Given the description of an element on the screen output the (x, y) to click on. 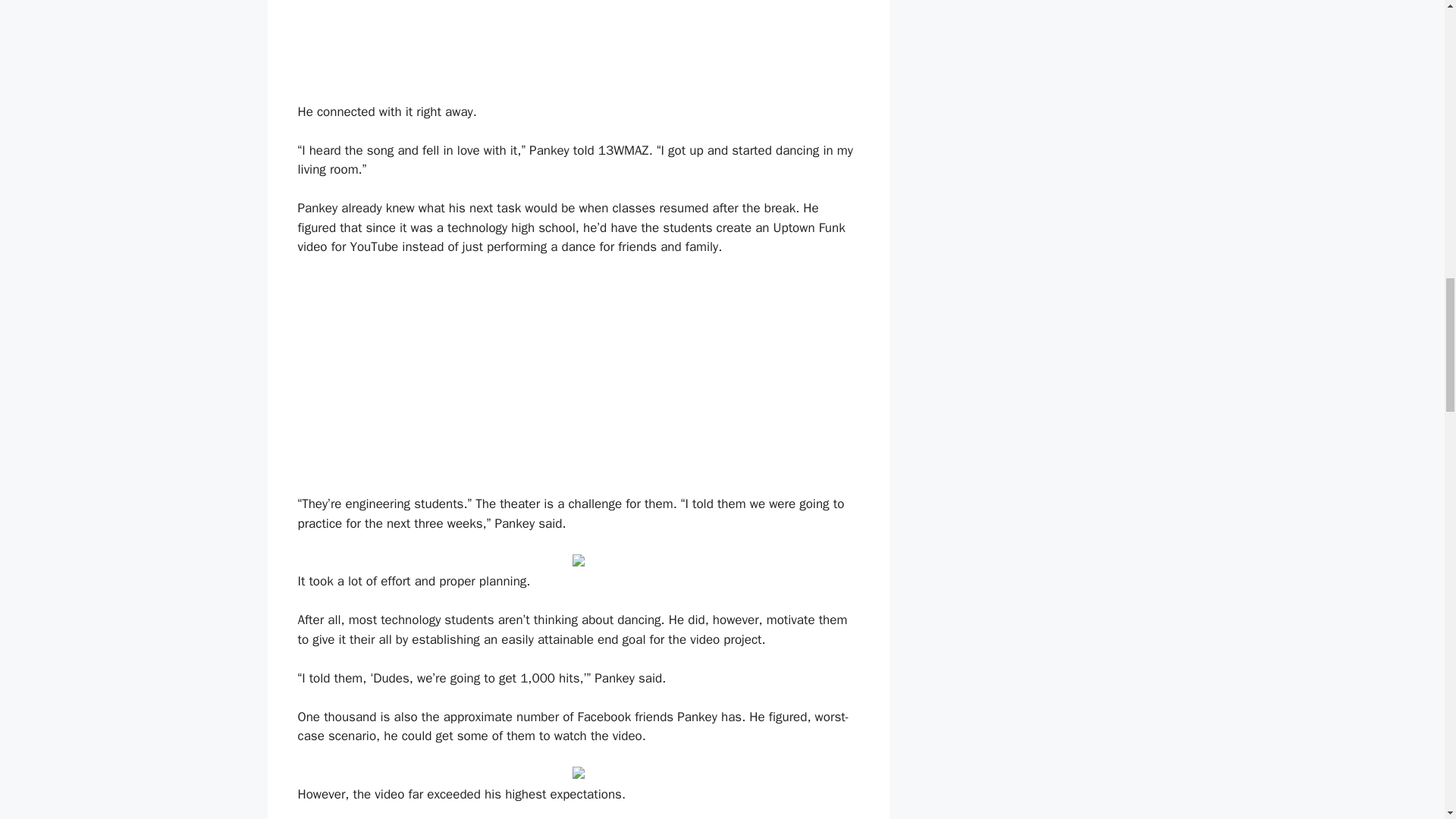
Advertisement (578, 382)
